Given the description of an element on the screen output the (x, y) to click on. 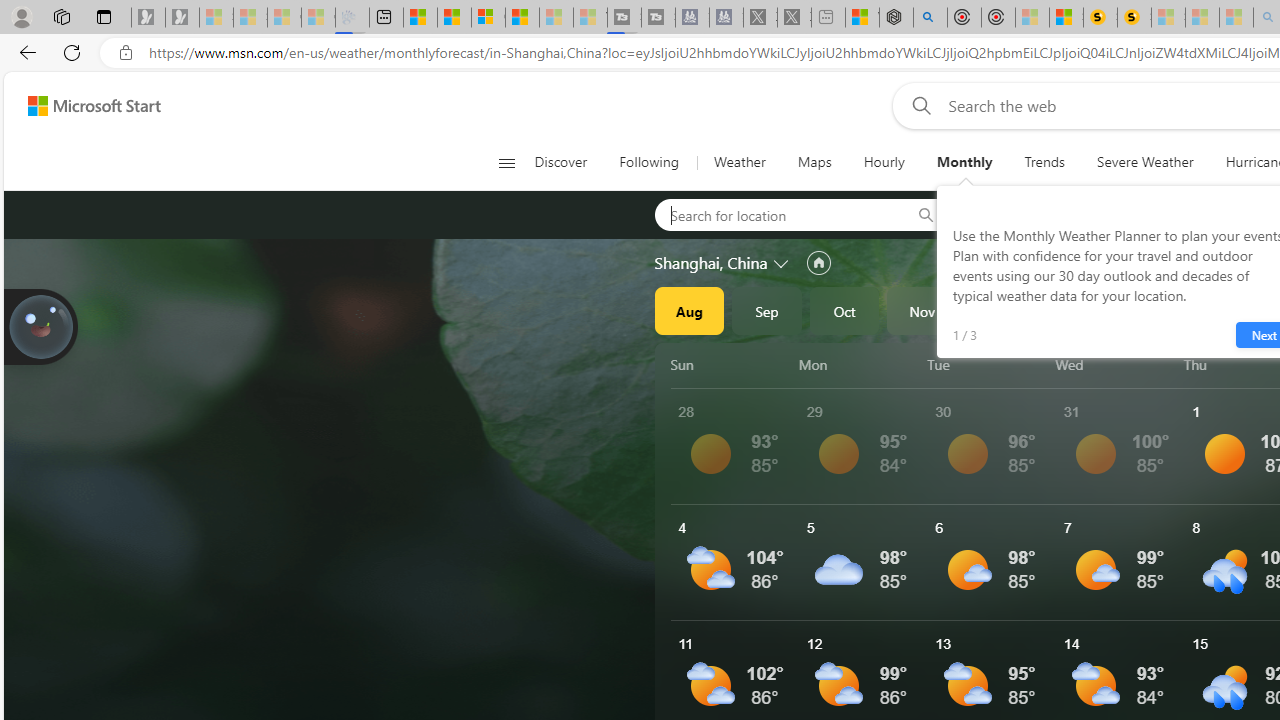
Trends (1044, 162)
Monthly (964, 162)
Join us in planting real trees to help our planet! (40, 325)
Web search (917, 105)
Mar (1233, 310)
Wed (1115, 363)
Trends (1044, 162)
Overview (488, 17)
